Given the description of an element on the screen output the (x, y) to click on. 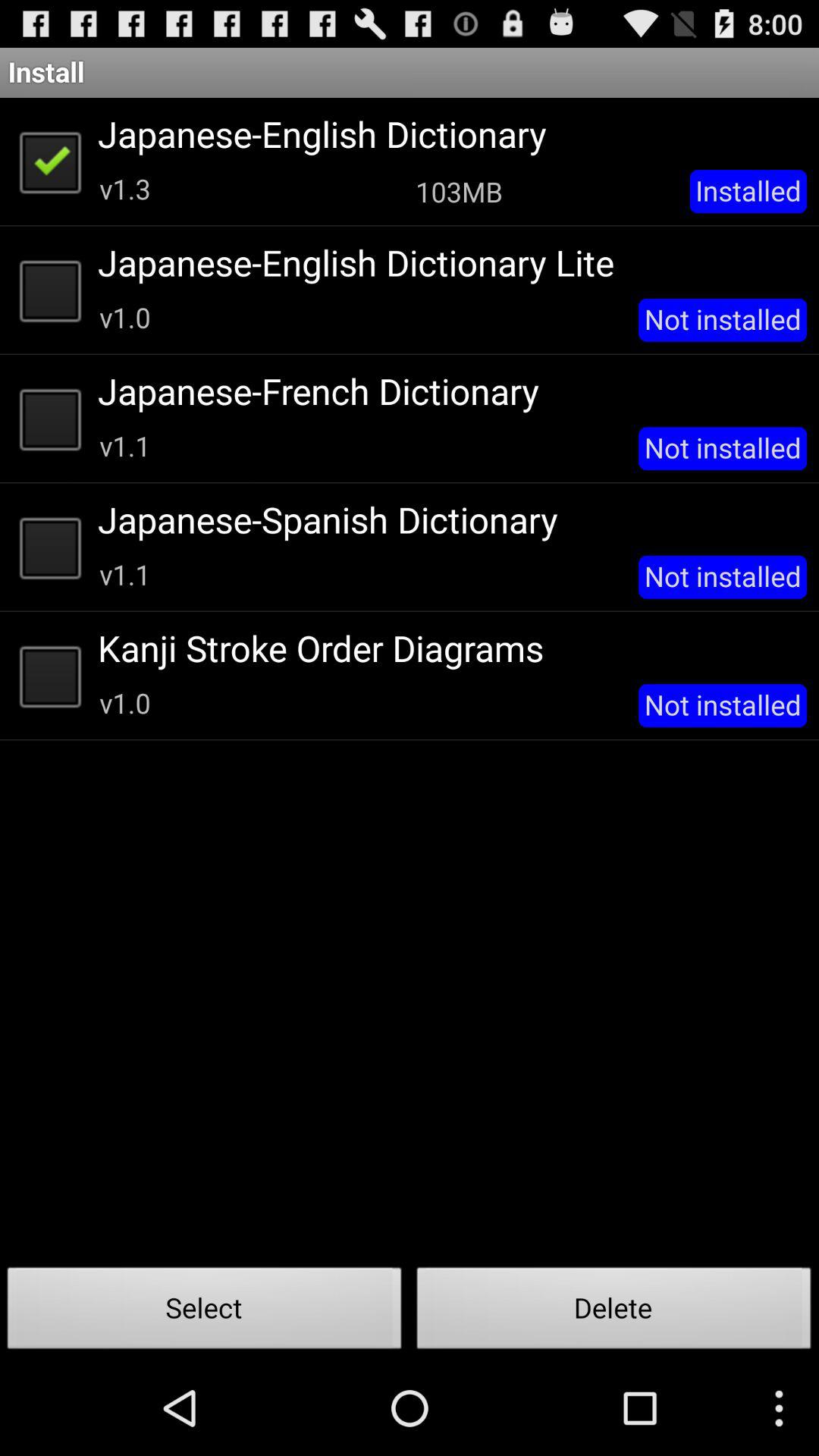
click the item below the not installed item (614, 1312)
